Given the description of an element on the screen output the (x, y) to click on. 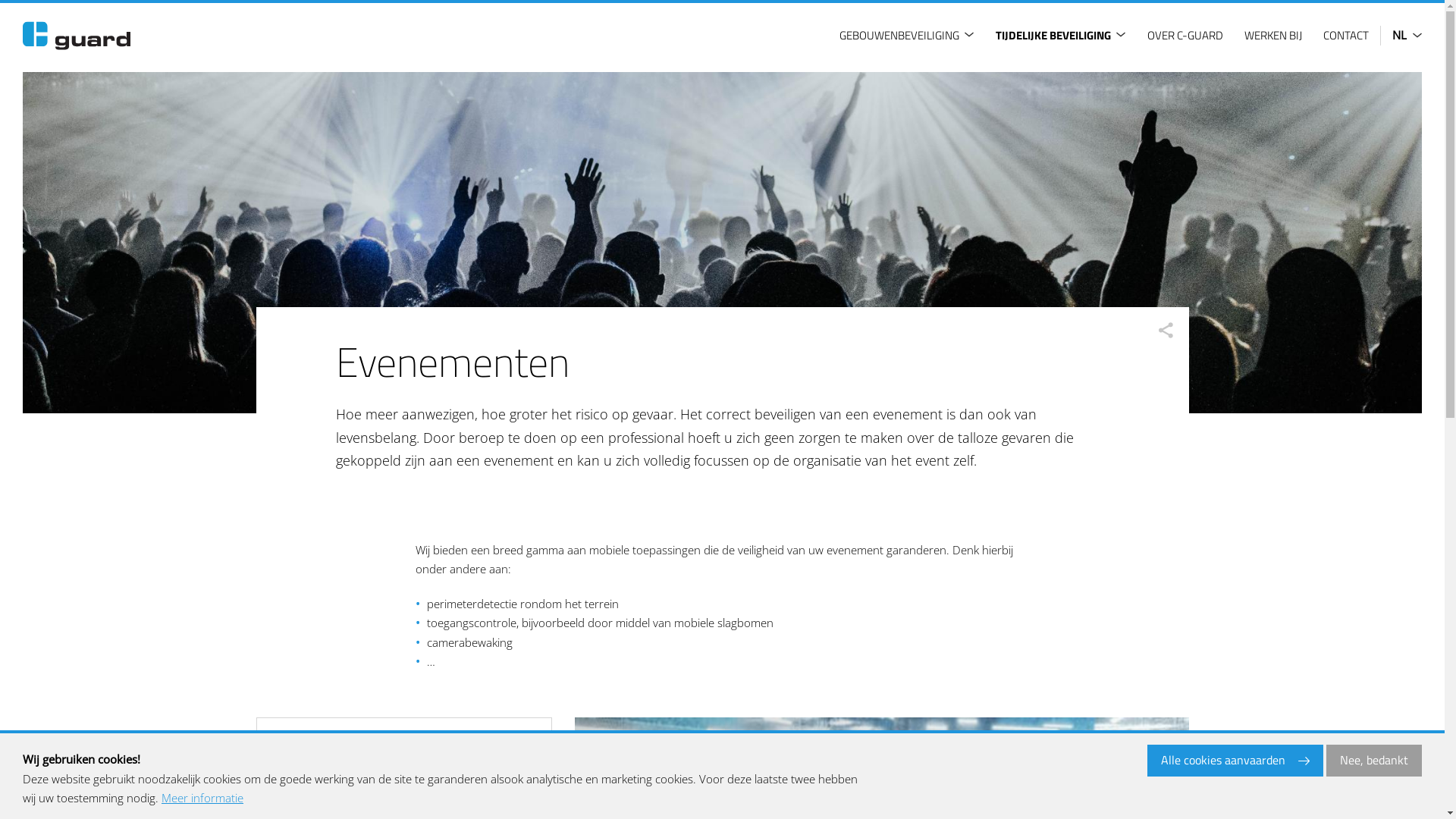
GEBOUWENBEVEILIGING Element type: text (908, 35)
WERKEN BIJ Element type: text (1274, 35)
toggle Element type: text (968, 34)
toggle Element type: text (1120, 34)
Nee, bedankt Element type: text (1373, 760)
CONTACT Element type: text (1347, 35)
Meer informatie Element type: text (202, 798)
NL Element type: text (1400, 35)
Skip to main content Element type: text (0, 0)
OVER C-GUARD Element type: text (1186, 35)
TIJDELIJKE BEVEILIGING Element type: text (1062, 35)
Alle cookies aanvaarden Element type: text (1235, 760)
Event Element type: hover (721, 242)
Share this on social media Element type: text (1166, 329)
